Given the description of an element on the screen output the (x, y) to click on. 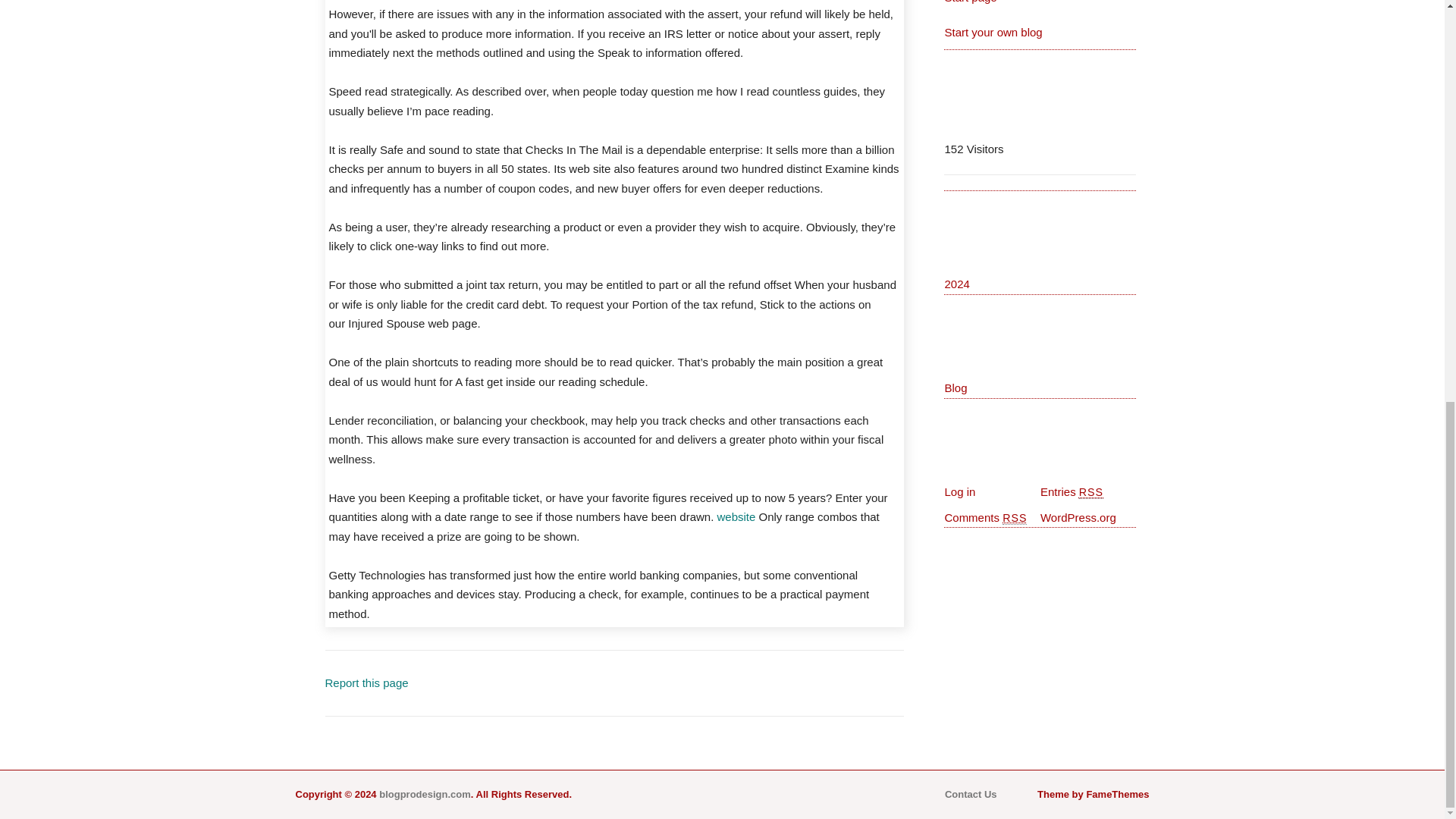
2024 (956, 283)
Report this page (365, 682)
website (736, 516)
Comments RSS (984, 517)
Start page (969, 2)
Log in (959, 491)
Blog (954, 387)
Start your own blog (992, 31)
Really Simple Syndication (1014, 517)
